Given the description of an element on the screen output the (x, y) to click on. 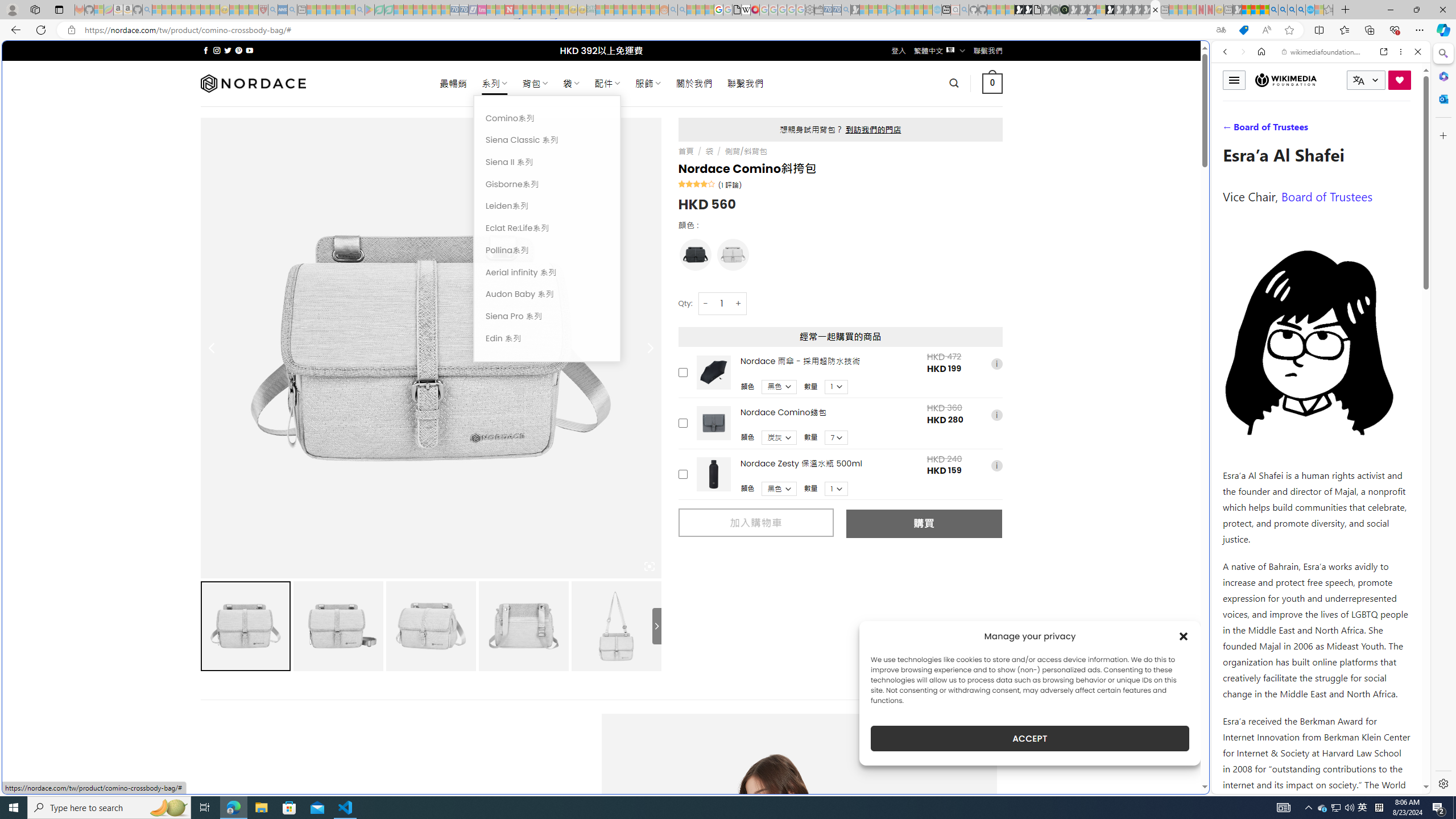
Jobs - lastminute.com Investor Portal - Sleeping (482, 9)
Toggle menu (1233, 80)
github - Search - Sleeping (964, 9)
The Weather Channel - MSN - Sleeping (175, 9)
